Given the description of an element on the screen output the (x, y) to click on. 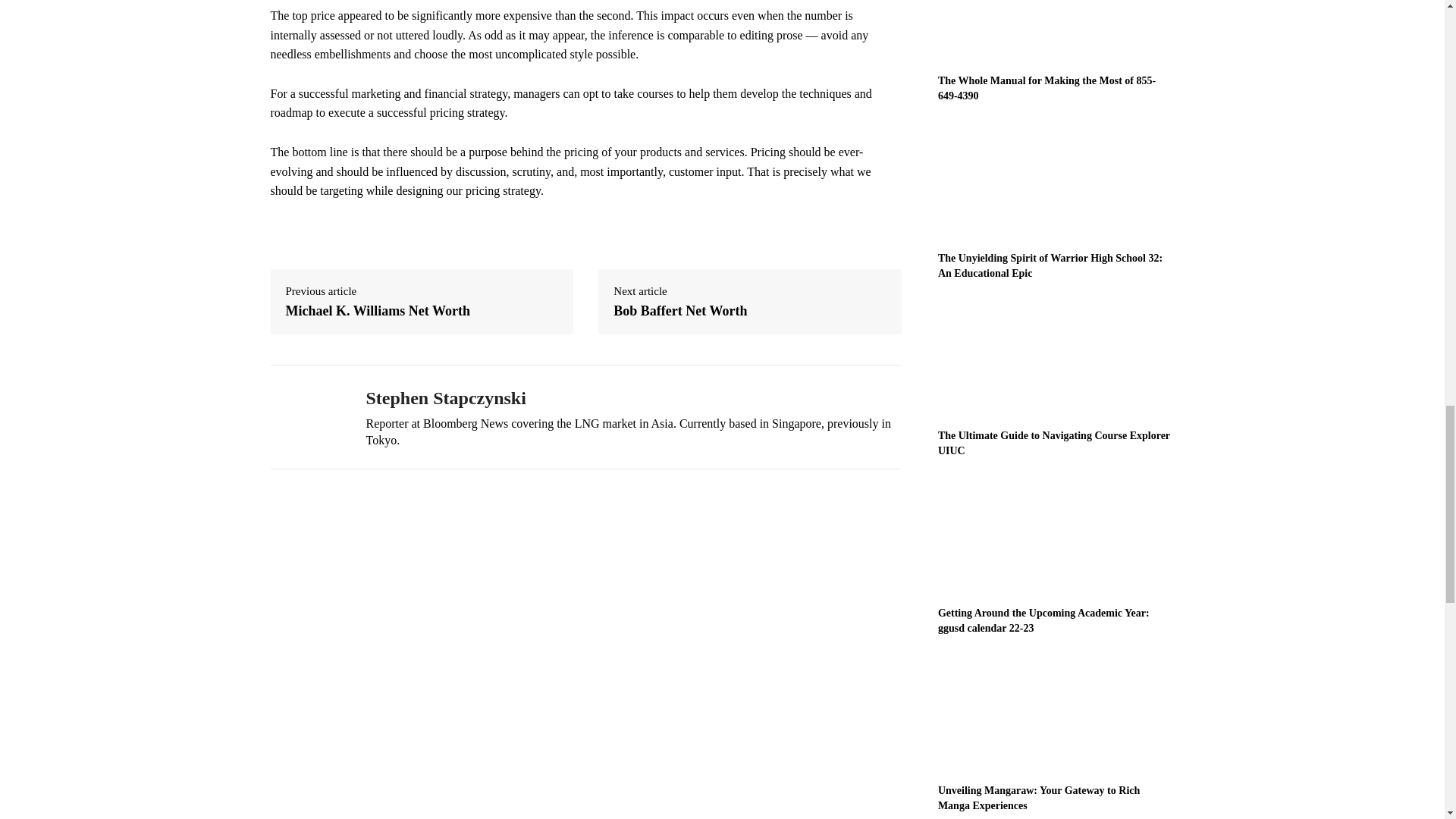
The Whole Manual for Making the Most of 855-649-4390 (1055, 31)
The Ultimate Guide to Navigating Course Explorer UIUC (1055, 359)
stephen Stapczynski (305, 416)
The Whole Manual for Making the Most of 855-649-4390 (1046, 88)
Michael K. Williams Net Worth (377, 311)
